Given the description of an element on the screen output the (x, y) to click on. 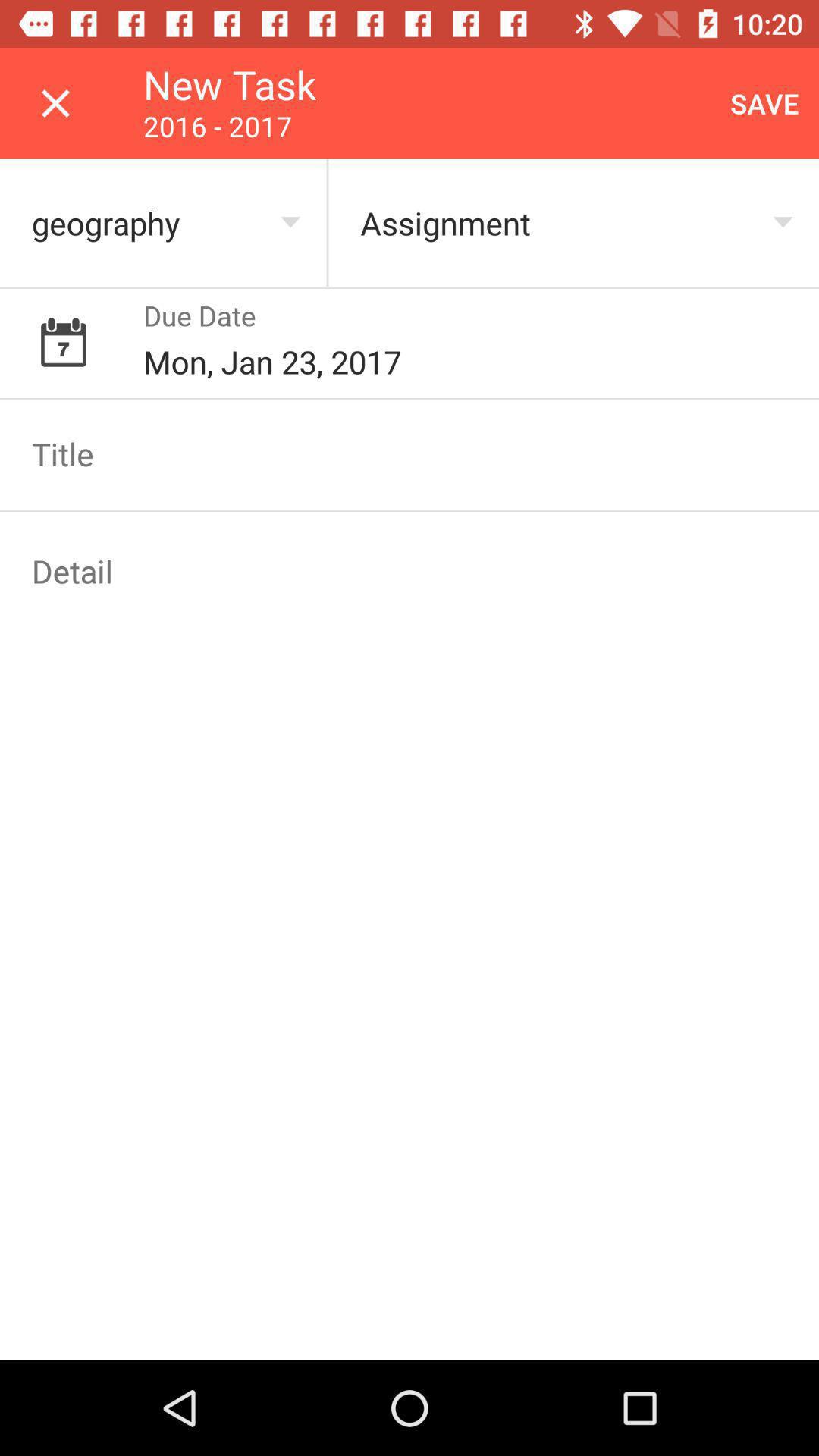
enter title (409, 453)
